Given the description of an element on the screen output the (x, y) to click on. 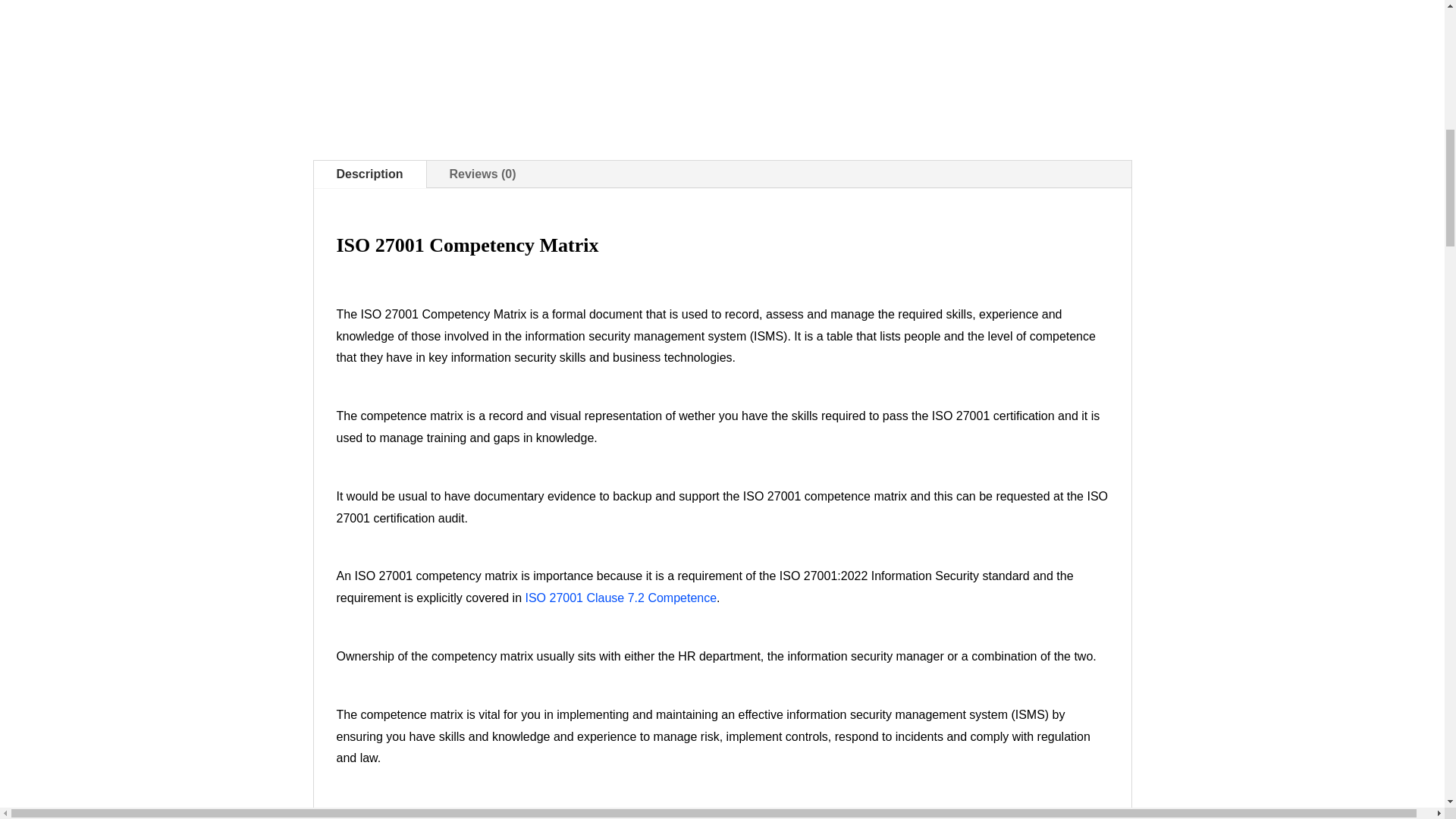
Description (370, 173)
ISO 27001 Clause 7.2 Competence (620, 597)
